Given the description of an element on the screen output the (x, y) to click on. 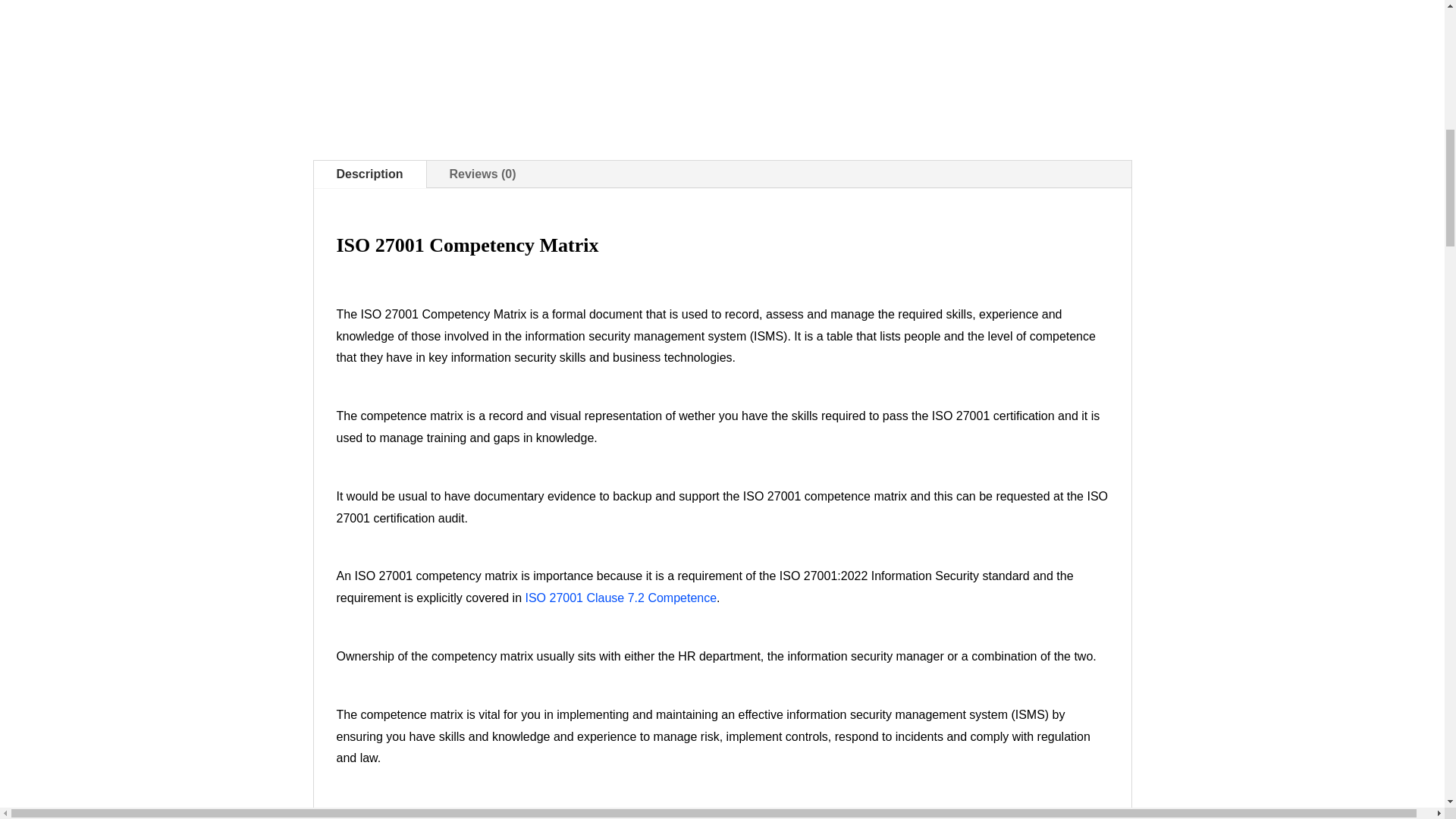
Description (370, 173)
ISO 27001 Clause 7.2 Competence (620, 597)
